Given the description of an element on the screen output the (x, y) to click on. 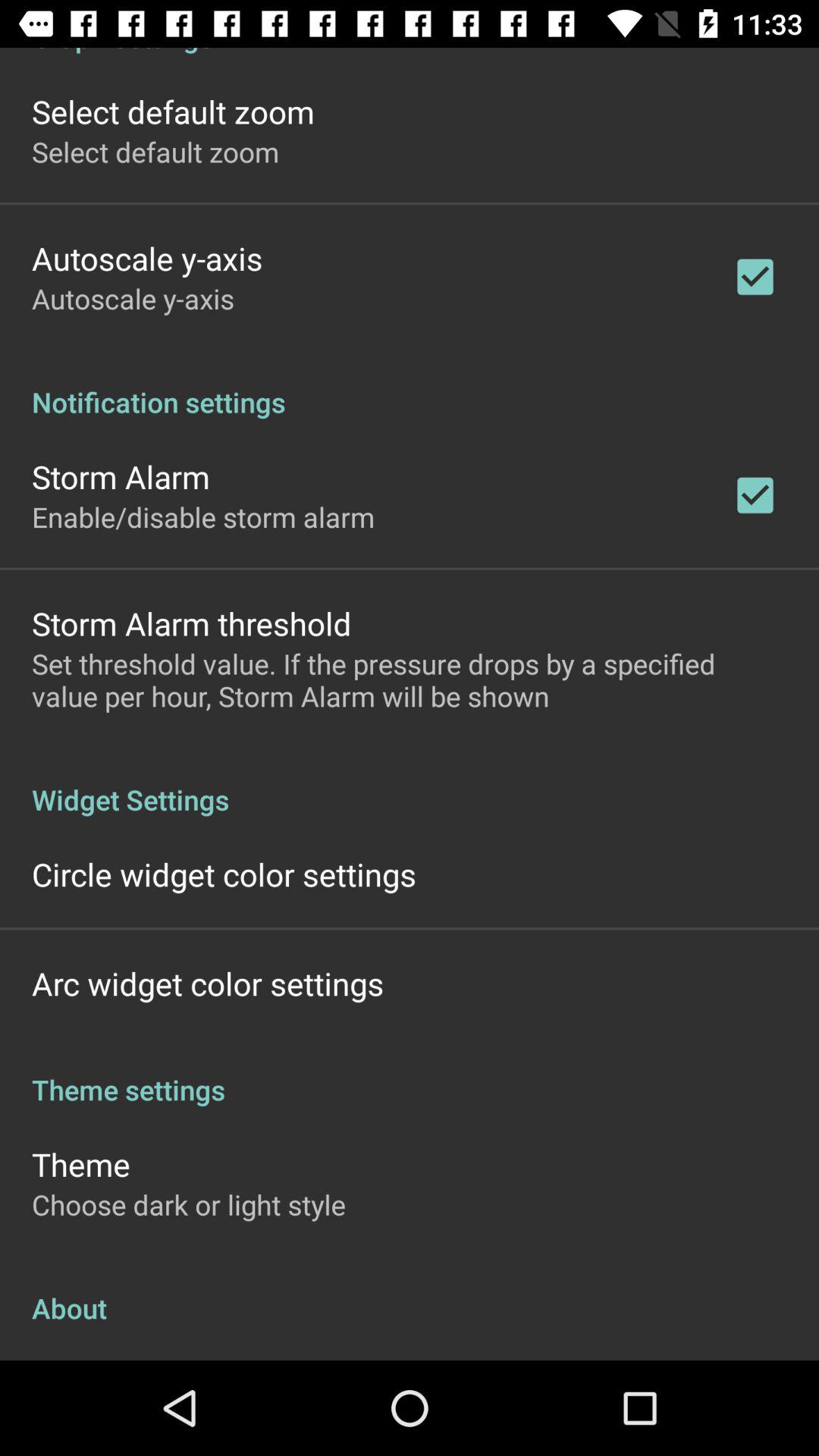
select item below storm alarm threshold item (409, 679)
